Given the description of an element on the screen output the (x, y) to click on. 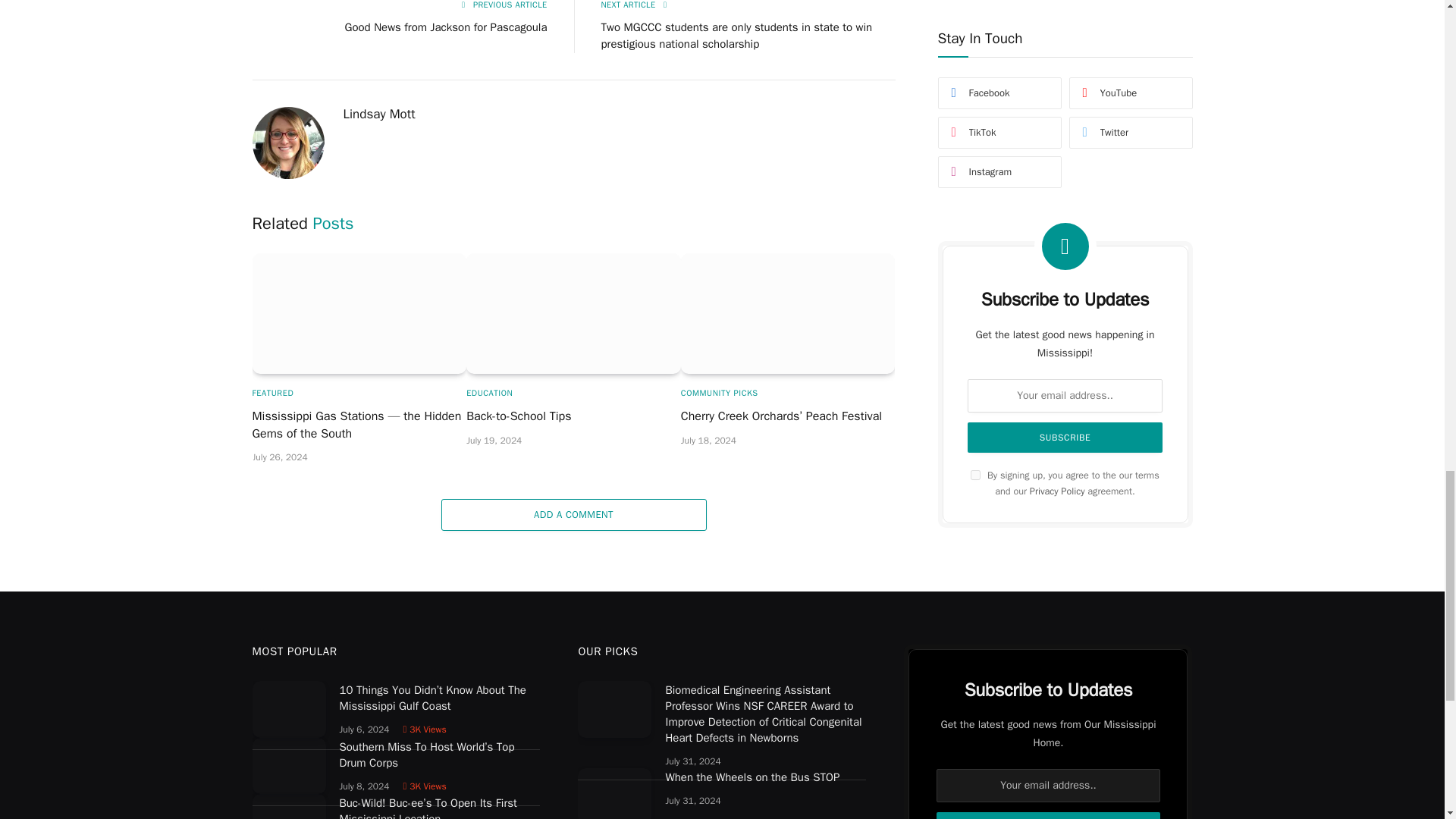
Subscribe (1047, 815)
